Given the description of an element on the screen output the (x, y) to click on. 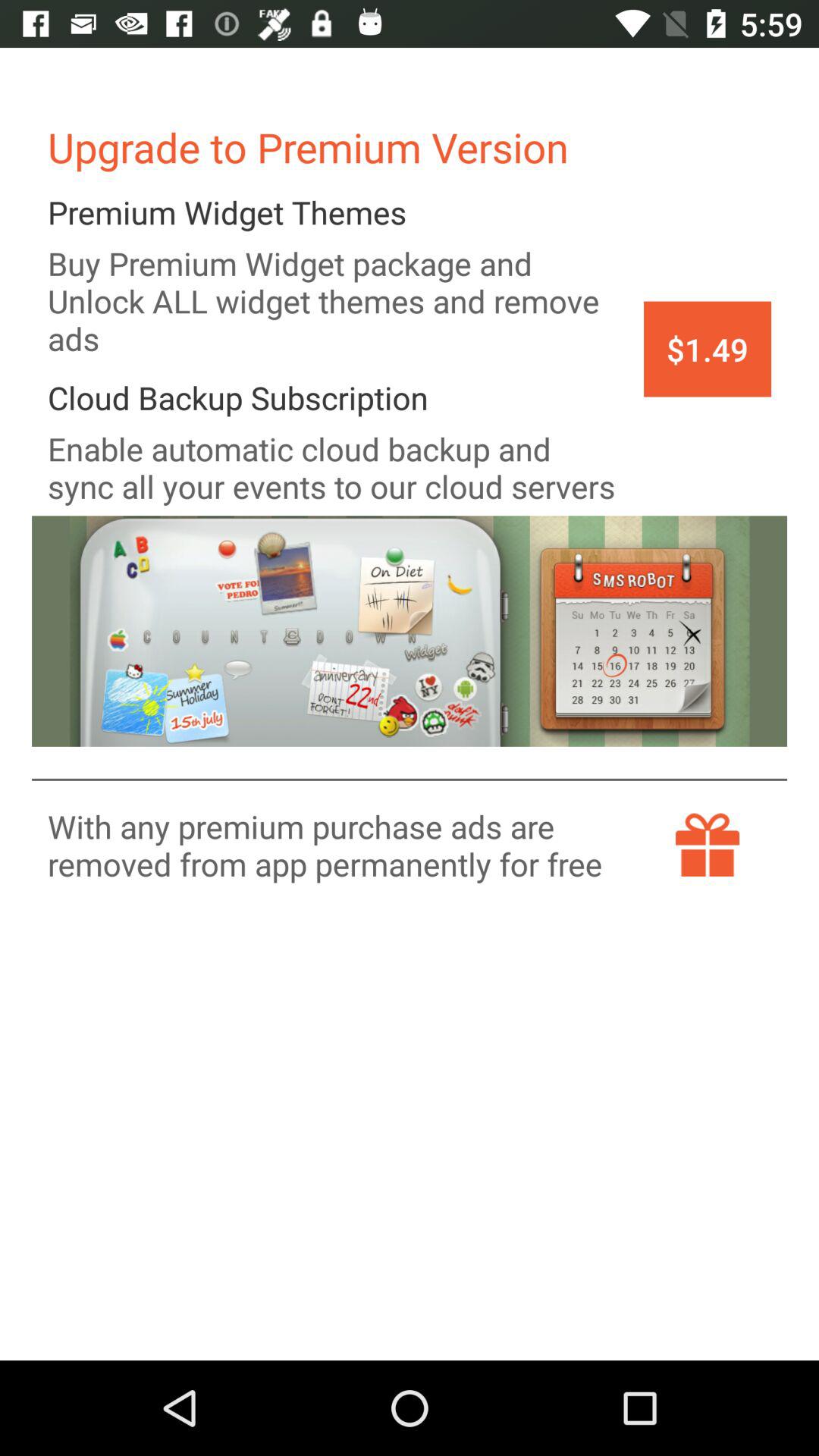
click $1.49 item (707, 348)
